Given the description of an element on the screen output the (x, y) to click on. 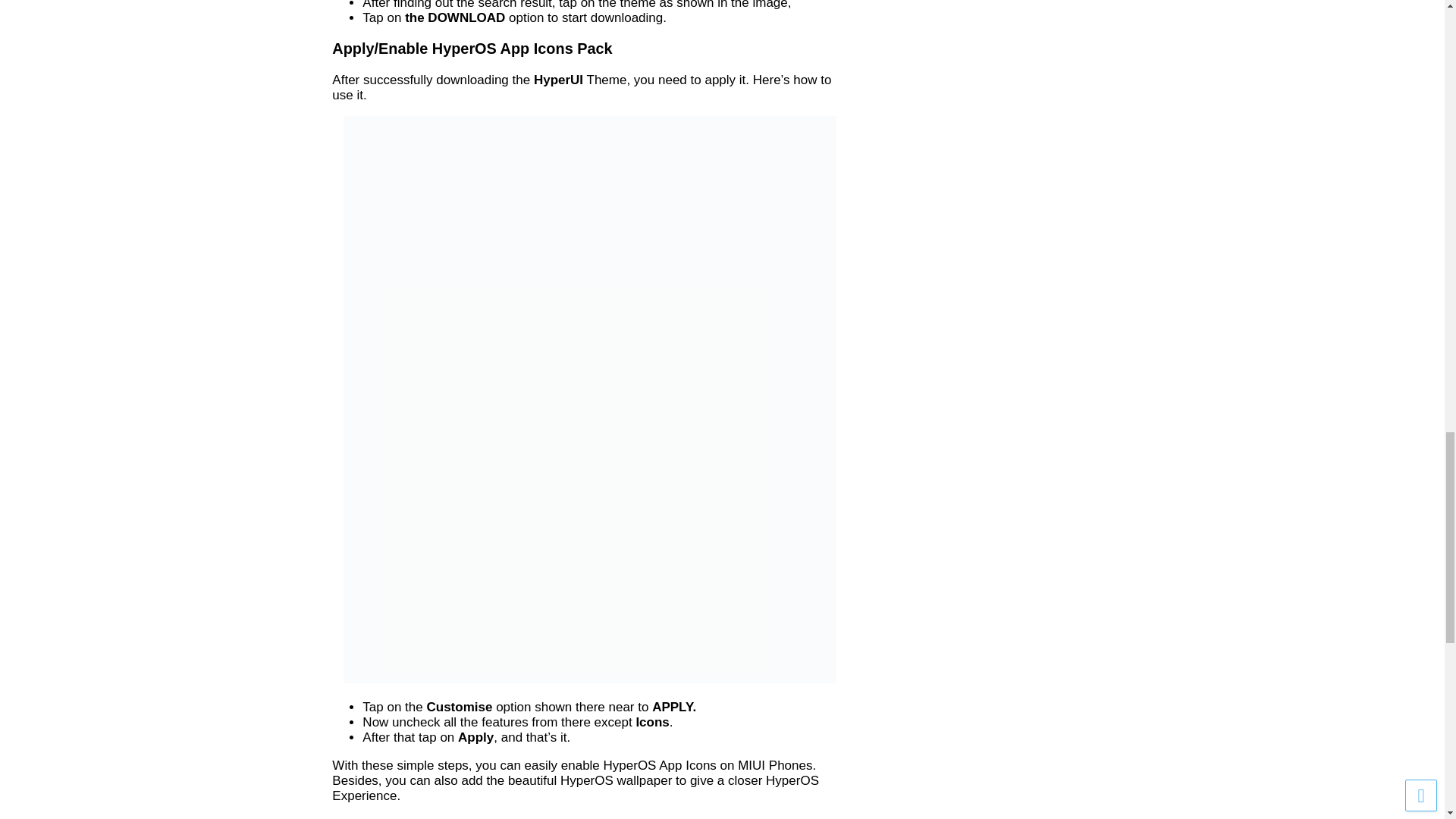
HyperCN (502, 817)
HyperMAX (597, 817)
